Given the description of an element on the screen output the (x, y) to click on. 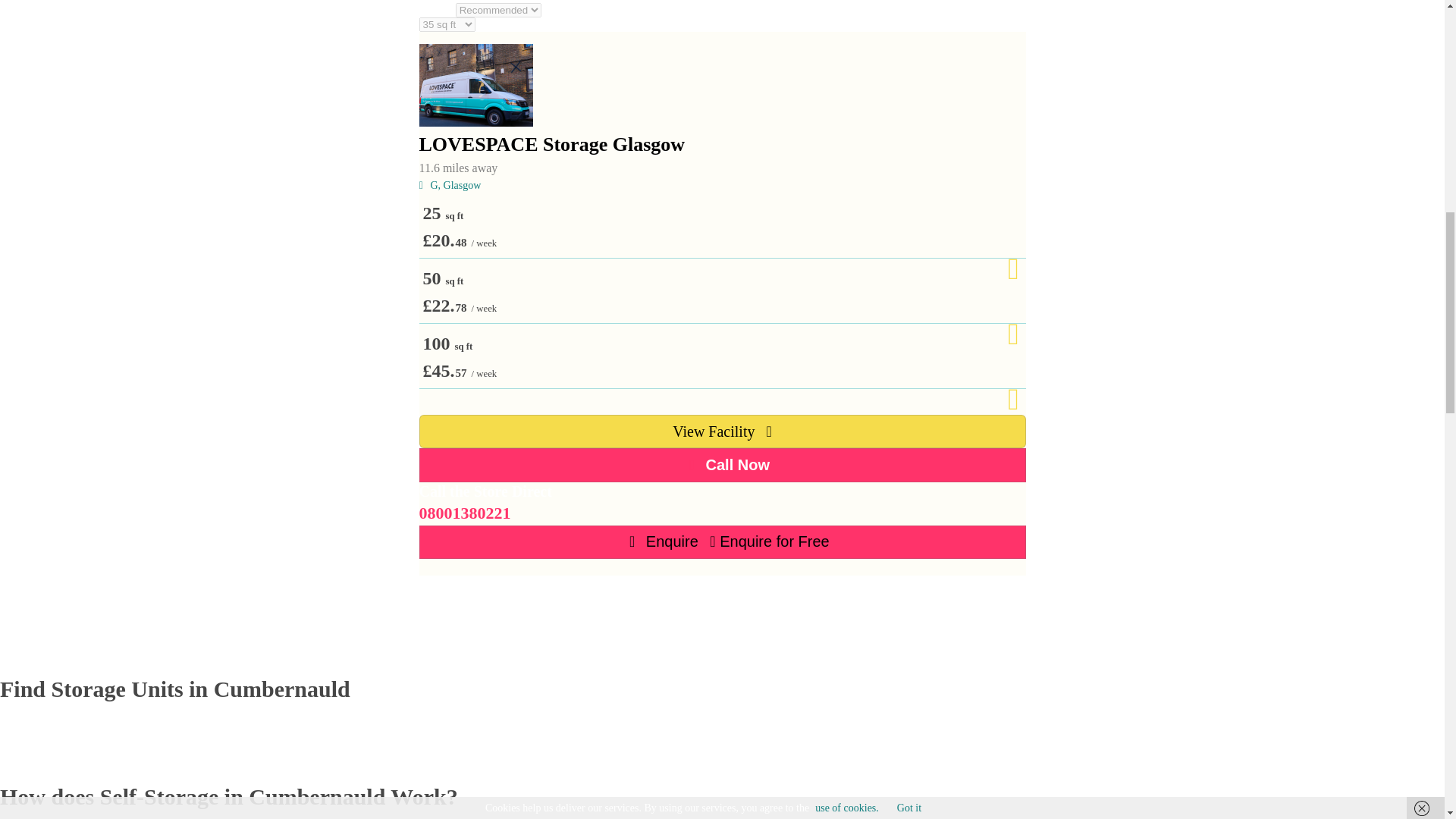
LOVESPACE Storage Glasgow in 136 West Nile Street, Glasgow (475, 85)
LOVESPACE Storage Glasgow (722, 144)
View Facility (722, 430)
Enquire Enquire for Free (722, 541)
08001380221 (465, 512)
Call Now (722, 464)
View Facility (722, 418)
